Given the description of an element on the screen output the (x, y) to click on. 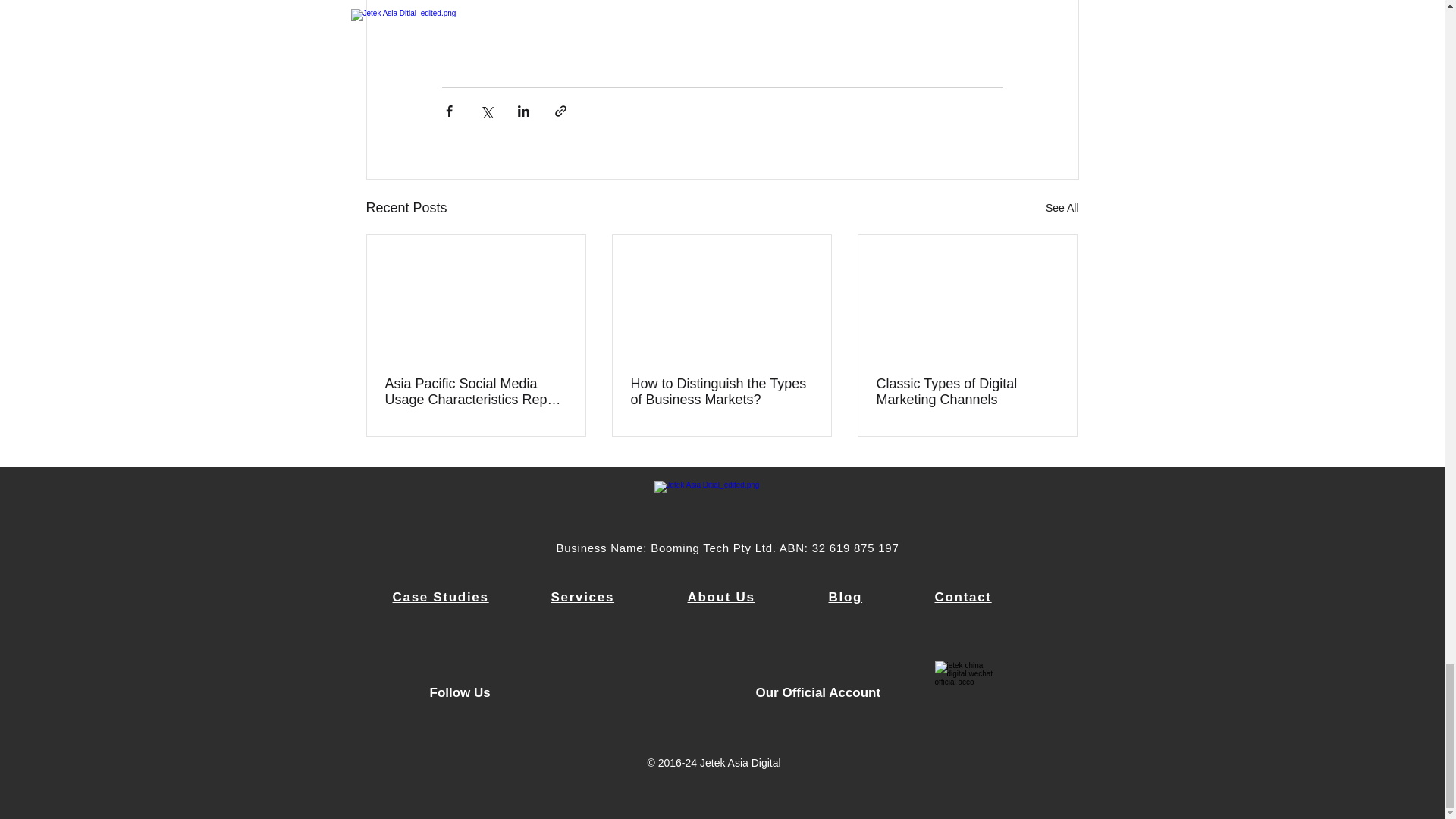
Case Studies (441, 596)
How to Distinguish the Types of Business Markets? (721, 391)
See All (1061, 208)
About Us (720, 596)
Blog (844, 596)
Services (582, 596)
Classic Types of Digital Marketing Channels (967, 391)
Contact (962, 596)
